Given the description of an element on the screen output the (x, y) to click on. 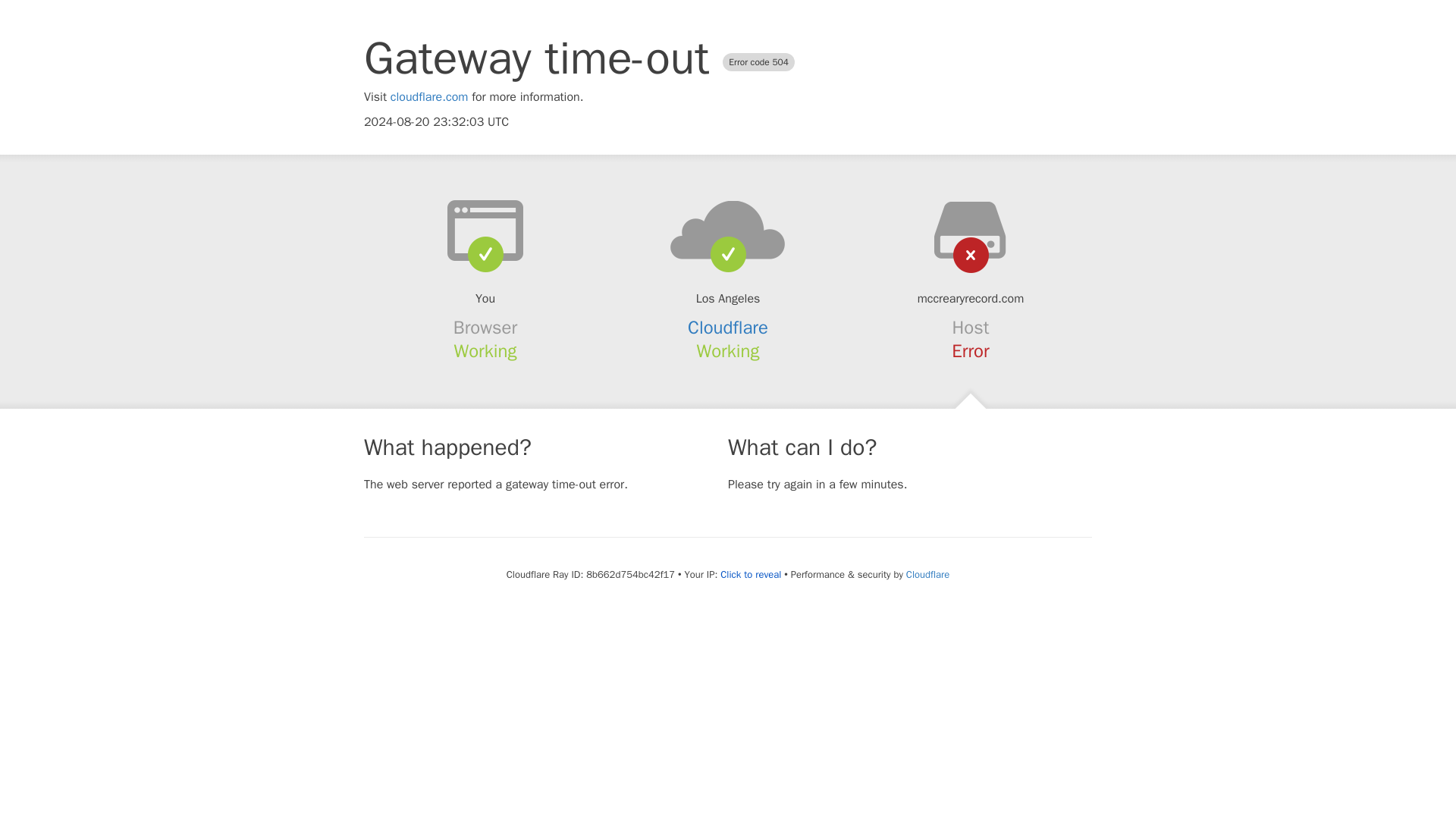
Cloudflare (727, 327)
Click to reveal (750, 574)
Cloudflare (927, 574)
cloudflare.com (429, 96)
